Given the description of an element on the screen output the (x, y) to click on. 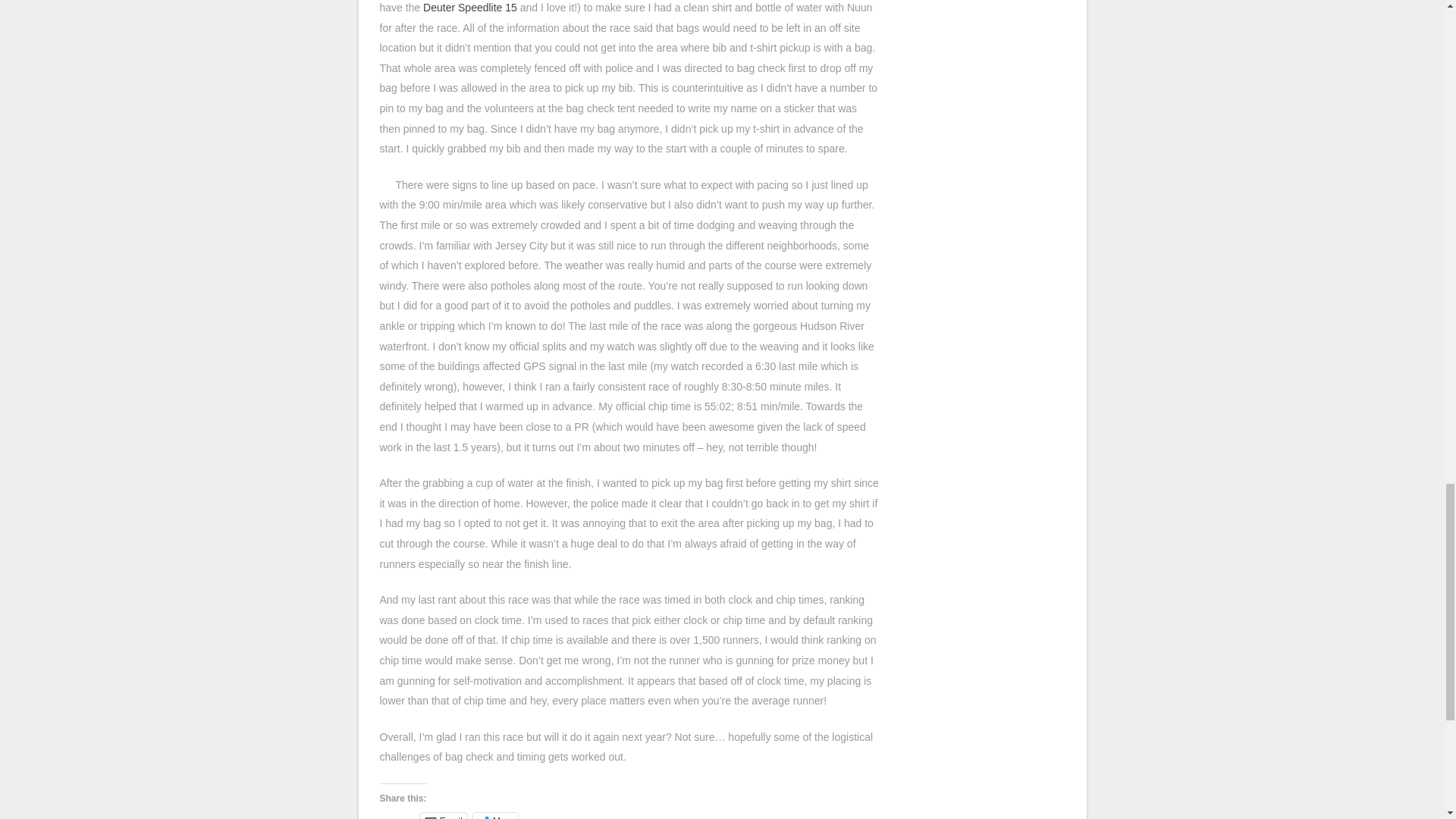
Tweet (399, 816)
Deuter Speedlite 15 (469, 7)
More (495, 816)
Click to email a link to a friend (443, 816)
Email (443, 816)
